Given the description of an element on the screen output the (x, y) to click on. 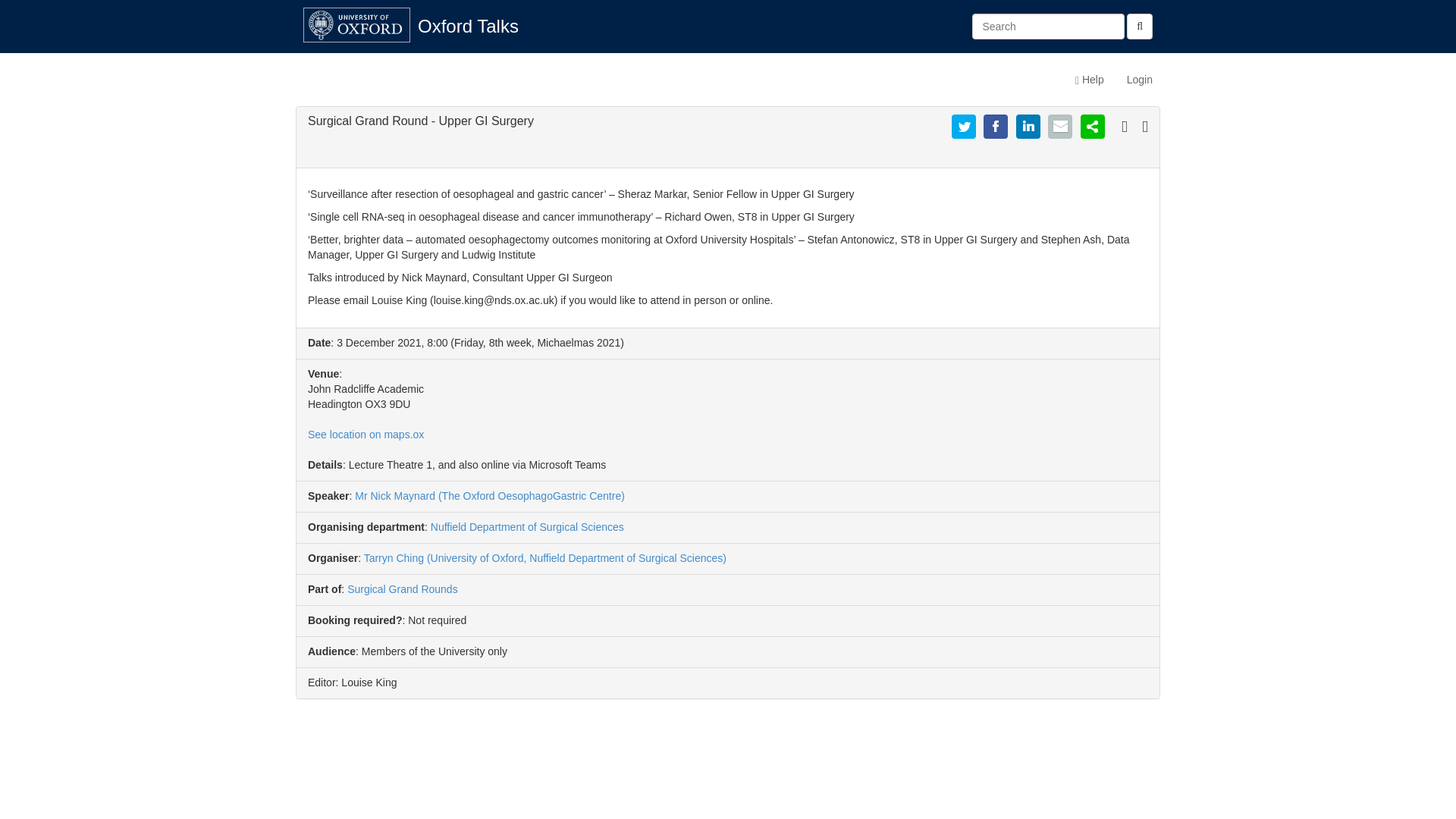
See location on maps.ox (365, 434)
Surgical Grand Rounds (402, 589)
Login (1139, 79)
Nuffield Department of Surgical Sciences (527, 526)
Help (1089, 79)
Oxford Talks (467, 26)
